Given the description of an element on the screen output the (x, y) to click on. 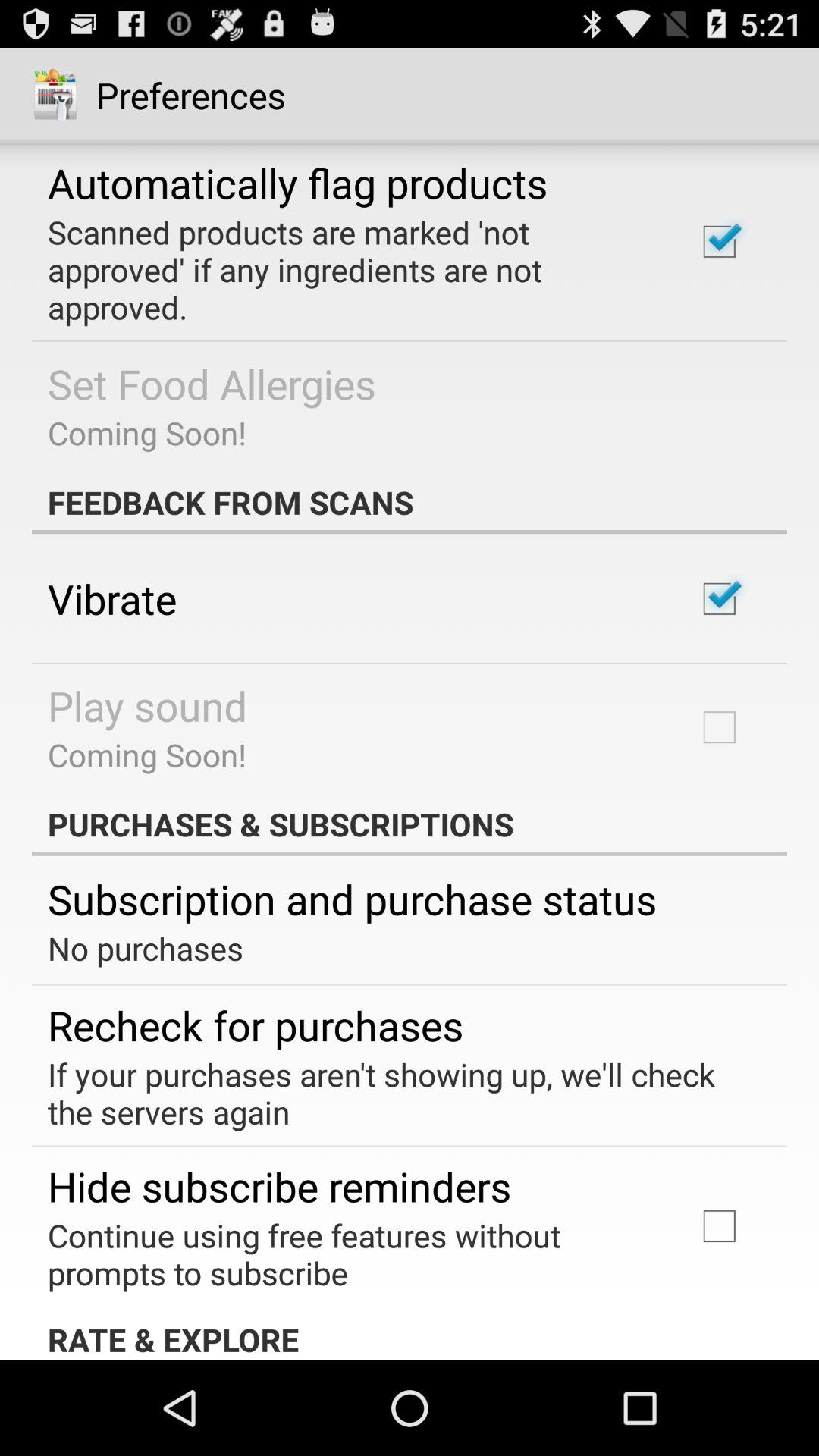
select app above set food allergies item (351, 269)
